Given the description of an element on the screen output the (x, y) to click on. 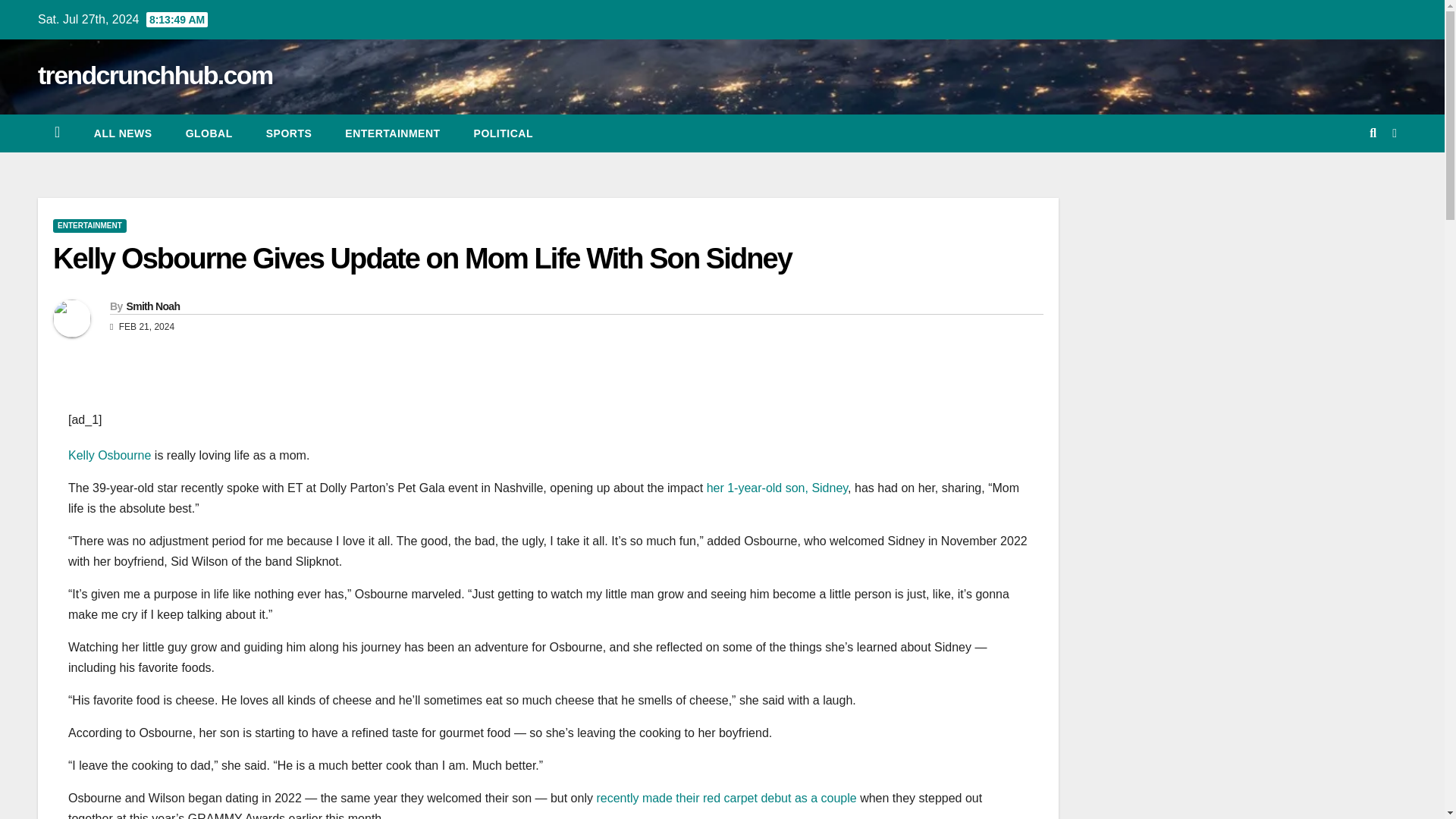
Global (208, 133)
trendcrunchhub.com (154, 74)
ALL NEWS (122, 133)
Kelly Osbourne Gives Update on Mom Life With Son Sidney (422, 258)
ENTERTAINMENT (89, 225)
GLOBAL (208, 133)
recently made their red carpet debut as a couple (725, 797)
Kelly Osbourne (109, 454)
ENTERTAINMENT (393, 133)
entertainment (393, 133)
Sports (288, 133)
Smith Noah (152, 306)
her 1-year-old son, Sidney (776, 487)
POLITICAL (503, 133)
